Given the description of an element on the screen output the (x, y) to click on. 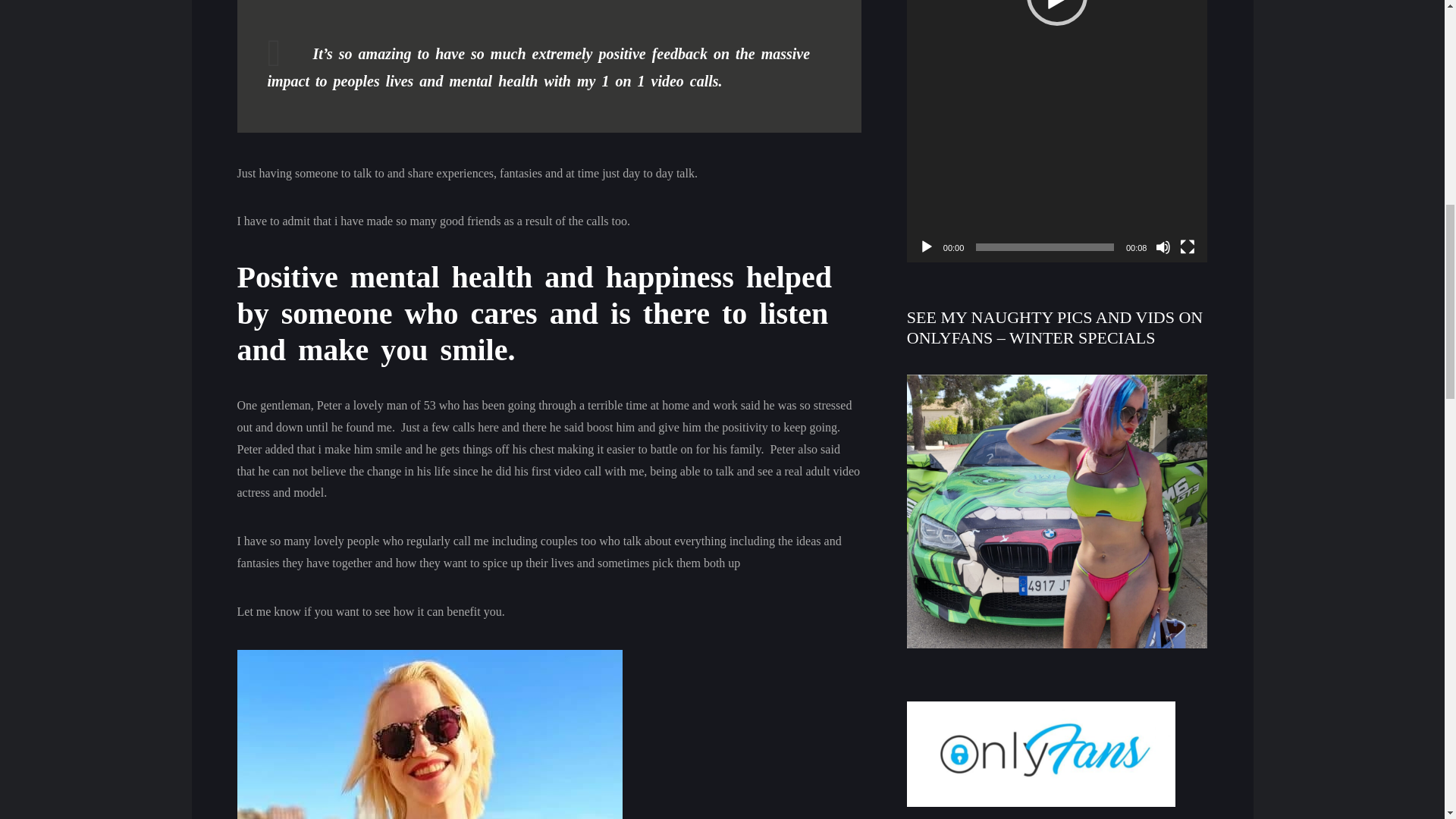
Play (926, 246)
Fullscreen (1187, 246)
Mute (1163, 246)
